Given the description of an element on the screen output the (x, y) to click on. 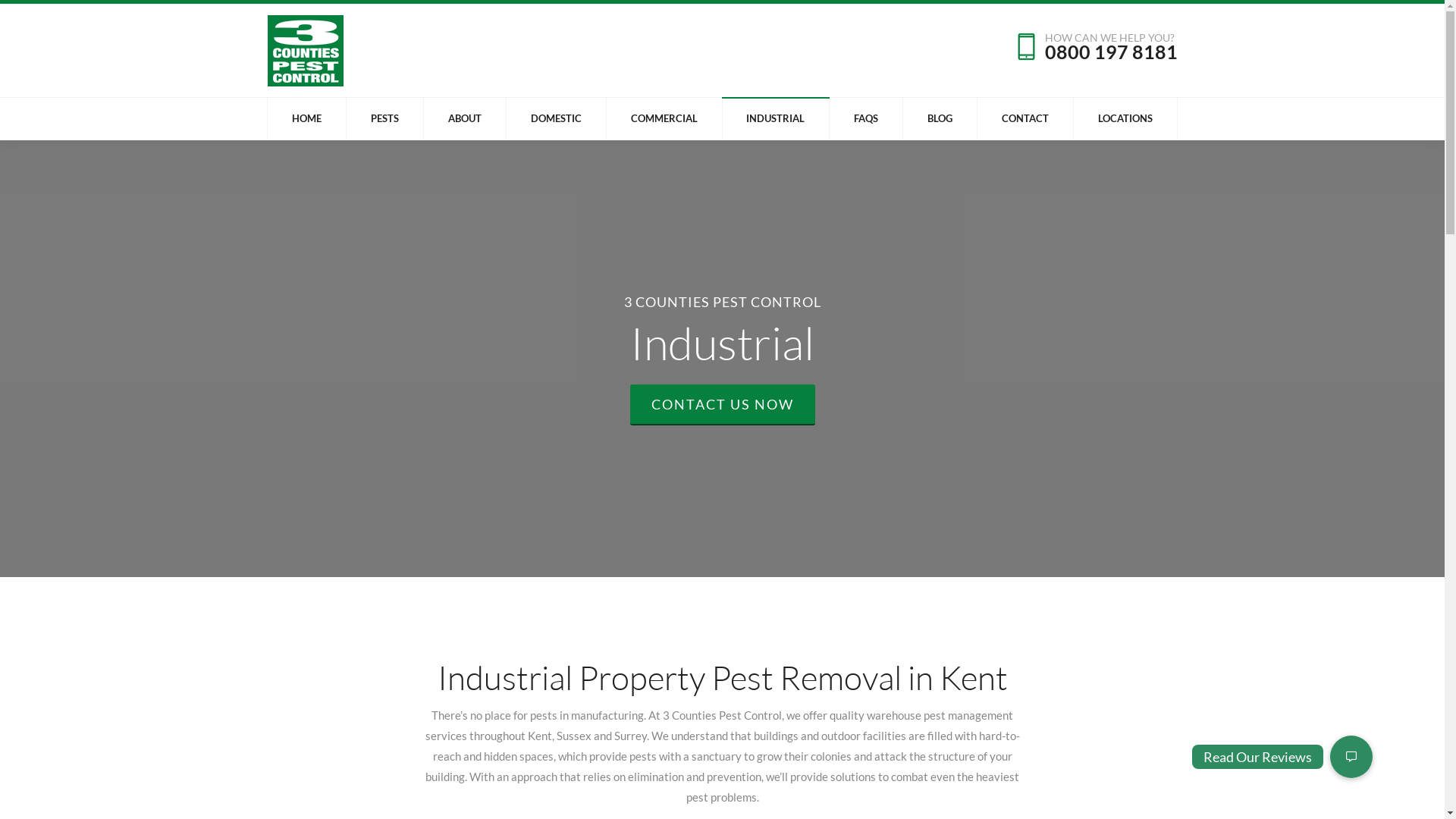
LOCATIONS Element type: text (1125, 118)
DOMESTIC Element type: text (555, 118)
PESTS Element type: text (384, 118)
HOW CAN WE HELP YOU?
0800 197 8181 Element type: text (1110, 46)
CONTACT Element type: text (1025, 118)
COMMERCIAL Element type: text (663, 118)
HOME Element type: text (305, 118)
ABOUT Element type: text (464, 118)
FAQS Element type: text (866, 118)
Read Our Reviews Element type: text (1351, 756)
INDUSTRIAL Element type: text (775, 118)
BLOG Element type: text (940, 118)
CONTACT US NOW Element type: text (721, 404)
